Given the description of an element on the screen output the (x, y) to click on. 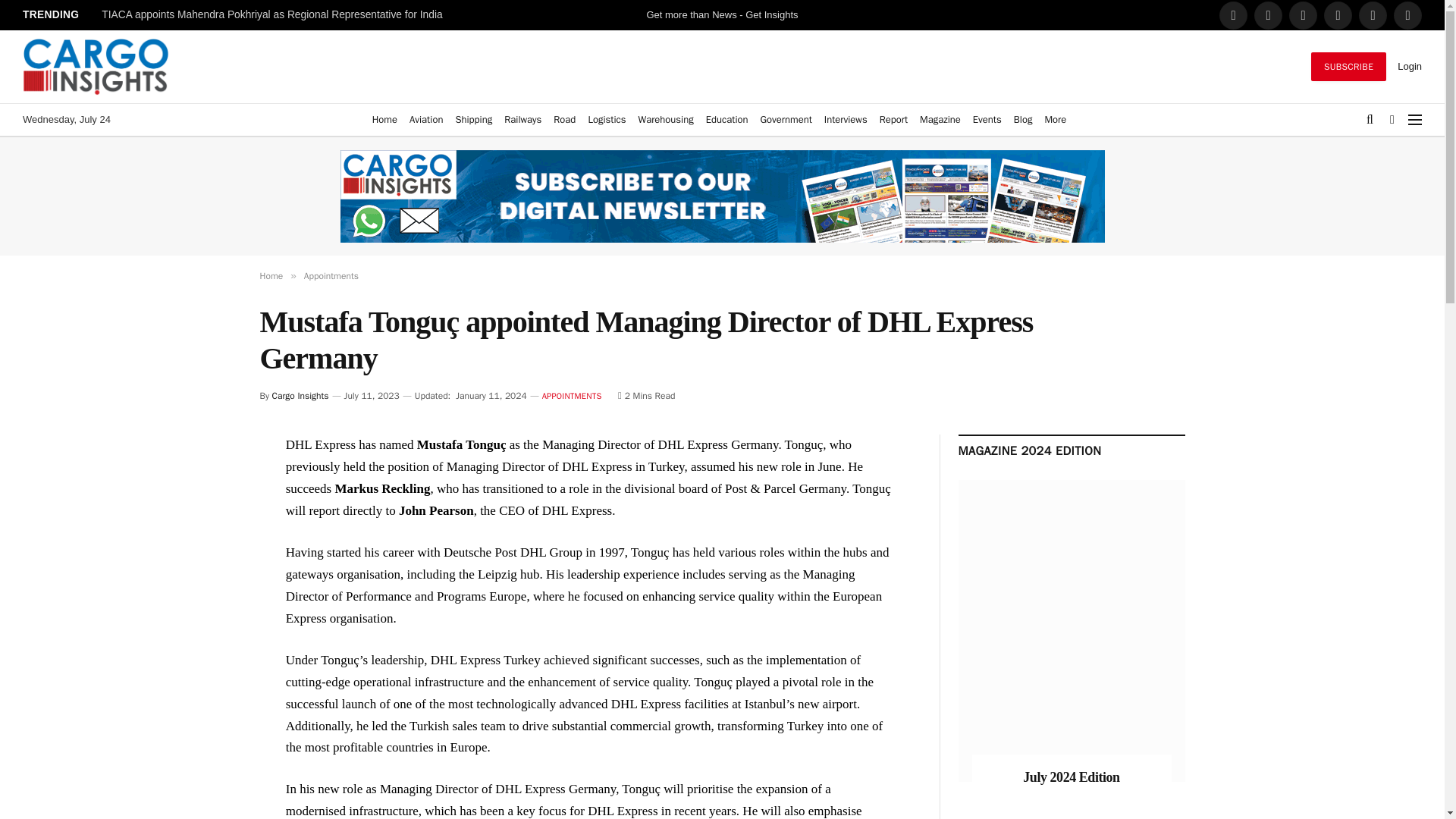
Instagram (1337, 15)
SUBSCRIBE (1348, 66)
Pinterest (1372, 15)
Login (1409, 66)
Facebook (1233, 15)
Home (384, 119)
LinkedIn (1302, 15)
Cargo Insights (95, 66)
Aviation (425, 119)
YouTube (1407, 15)
